Given the description of an element on the screen output the (x, y) to click on. 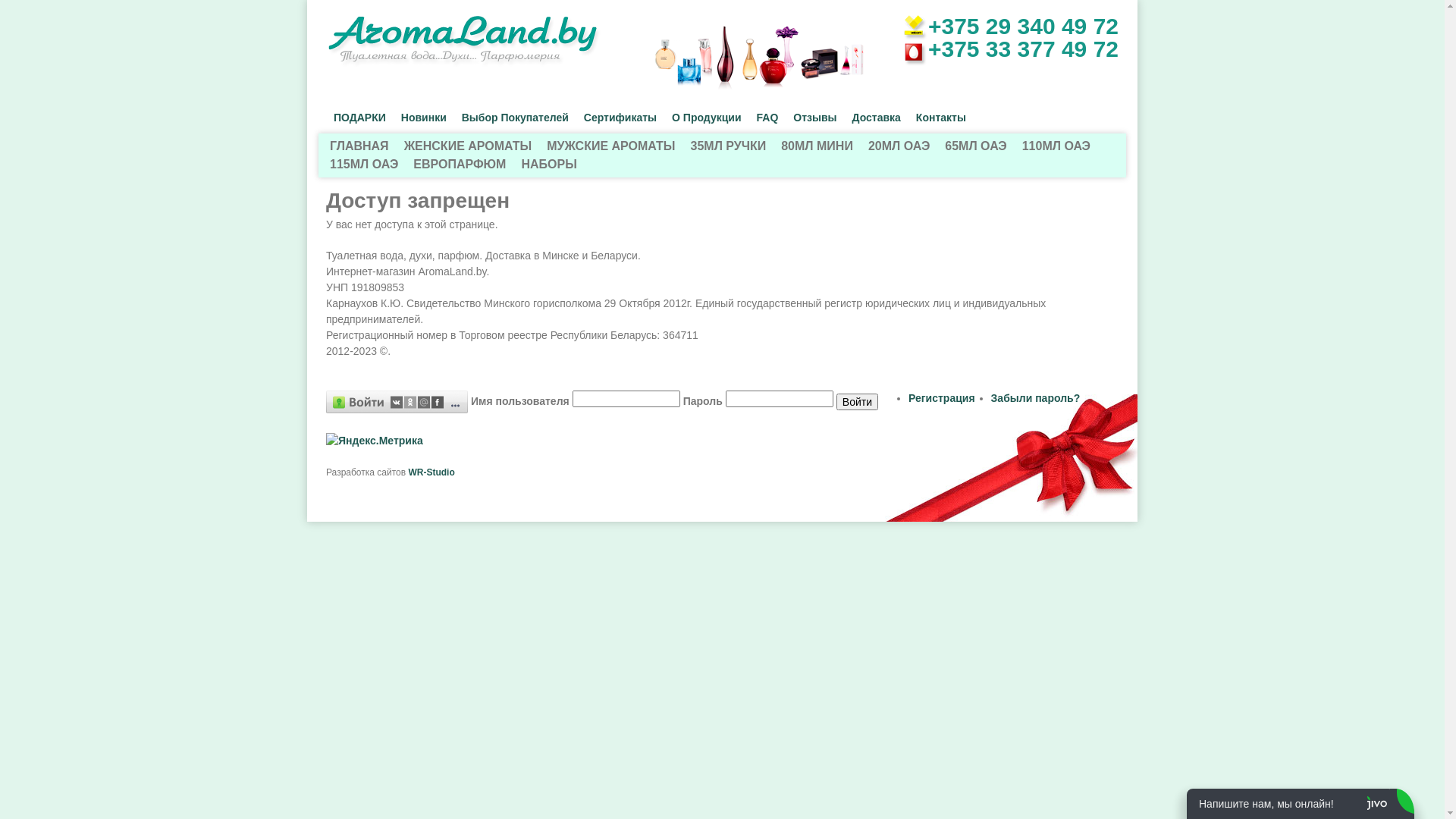
+375 29 340 49 72 Element type: text (1023, 25)
+375 33 377 49 72 Element type: text (1023, 48)
WR-Studio Element type: text (430, 472)
FAQ Element type: text (767, 117)
